Given the description of an element on the screen output the (x, y) to click on. 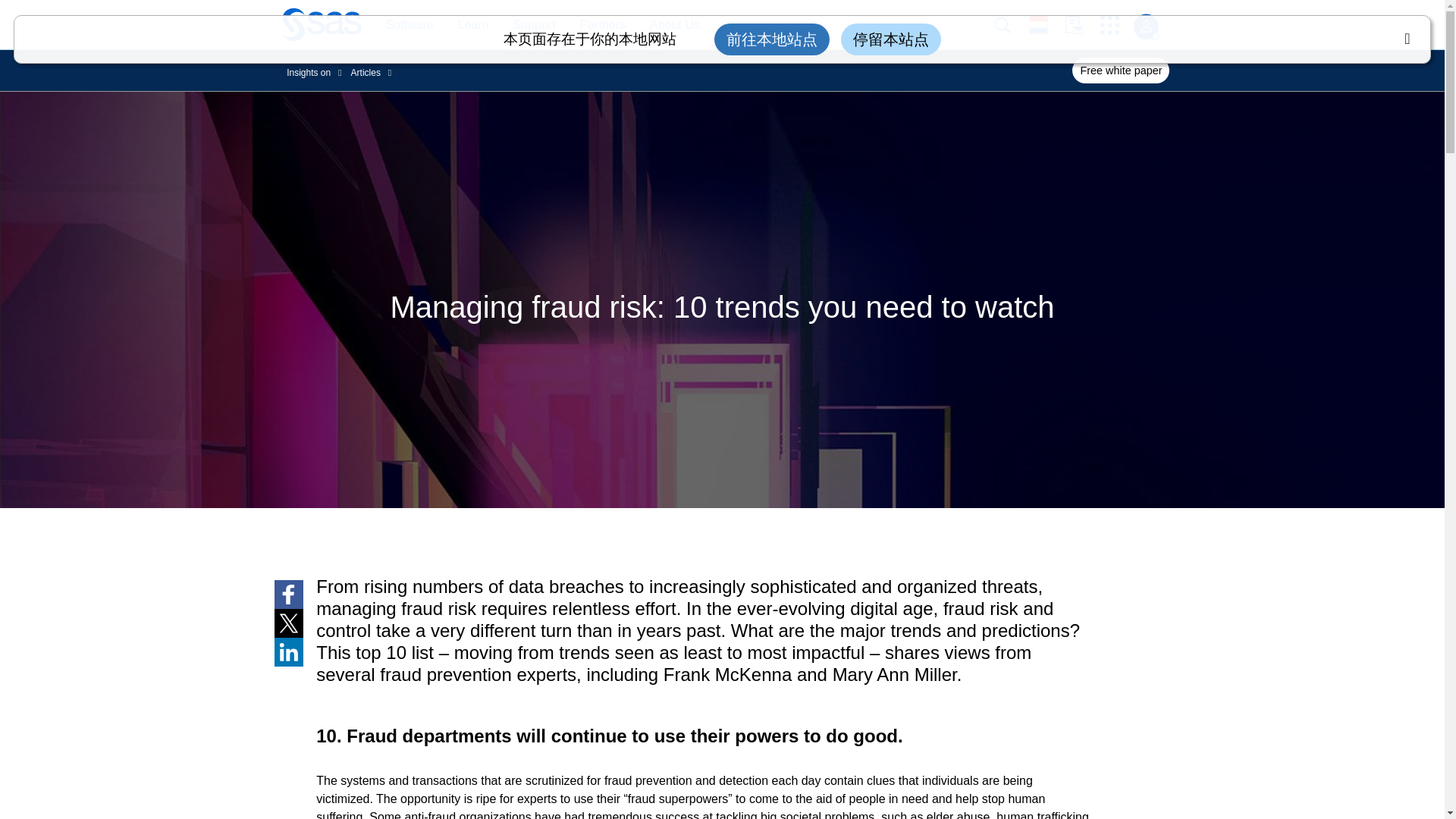
SAS Sites (1114, 25)
Sign In (1145, 26)
Partners (602, 24)
Support (534, 24)
Facebook (288, 594)
Software (401, 24)
Worldwide Sites (1046, 24)
Software (409, 24)
About Us (667, 24)
Contact Us (1082, 25)
Twitter (288, 623)
LinkedIn (288, 652)
About Us (674, 24)
Facebook (288, 594)
